Given the description of an element on the screen output the (x, y) to click on. 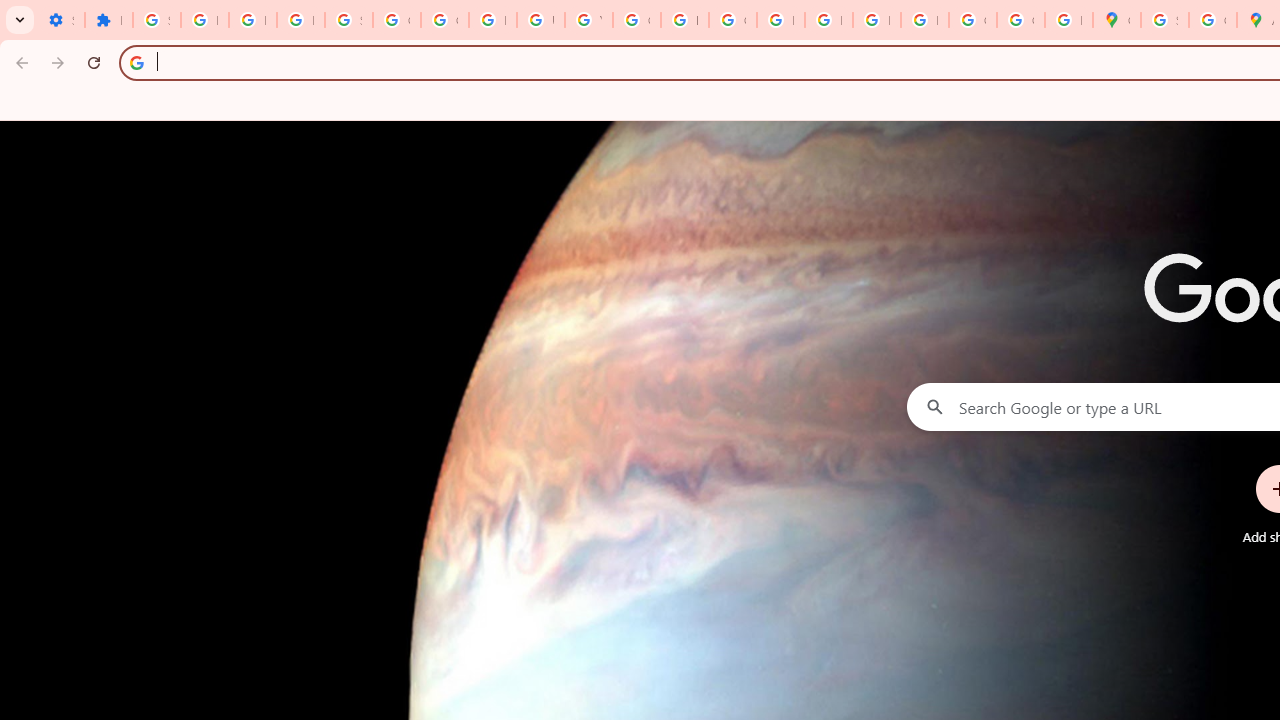
Sign in - Google Accounts (156, 20)
